Given the description of an element on the screen output the (x, y) to click on. 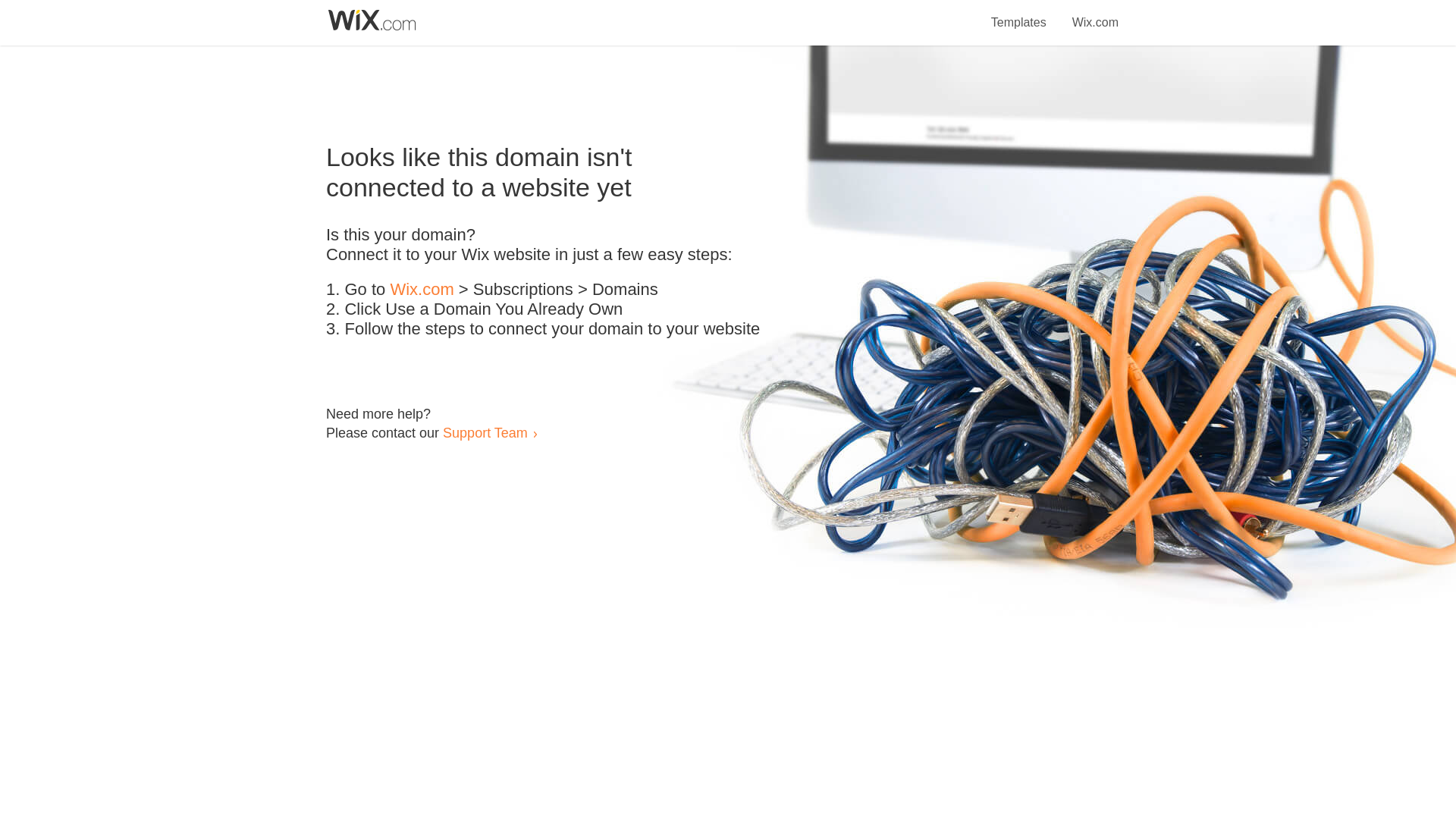
Support Team (484, 432)
Wix.com (421, 289)
Wix.com (1095, 14)
Templates (1018, 14)
